Given the description of an element on the screen output the (x, y) to click on. 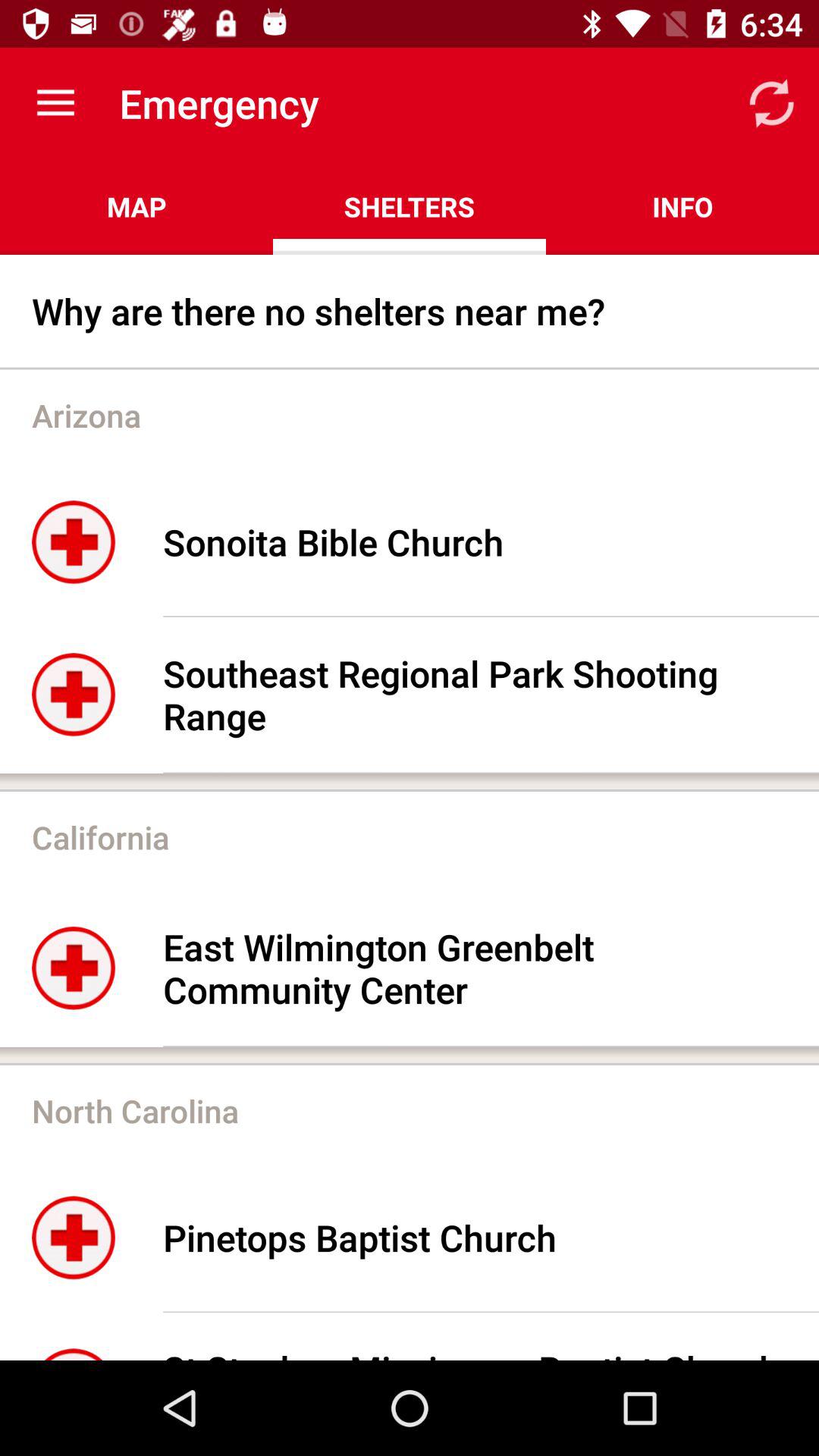
select icon above map (55, 103)
